Given the description of an element on the screen output the (x, y) to click on. 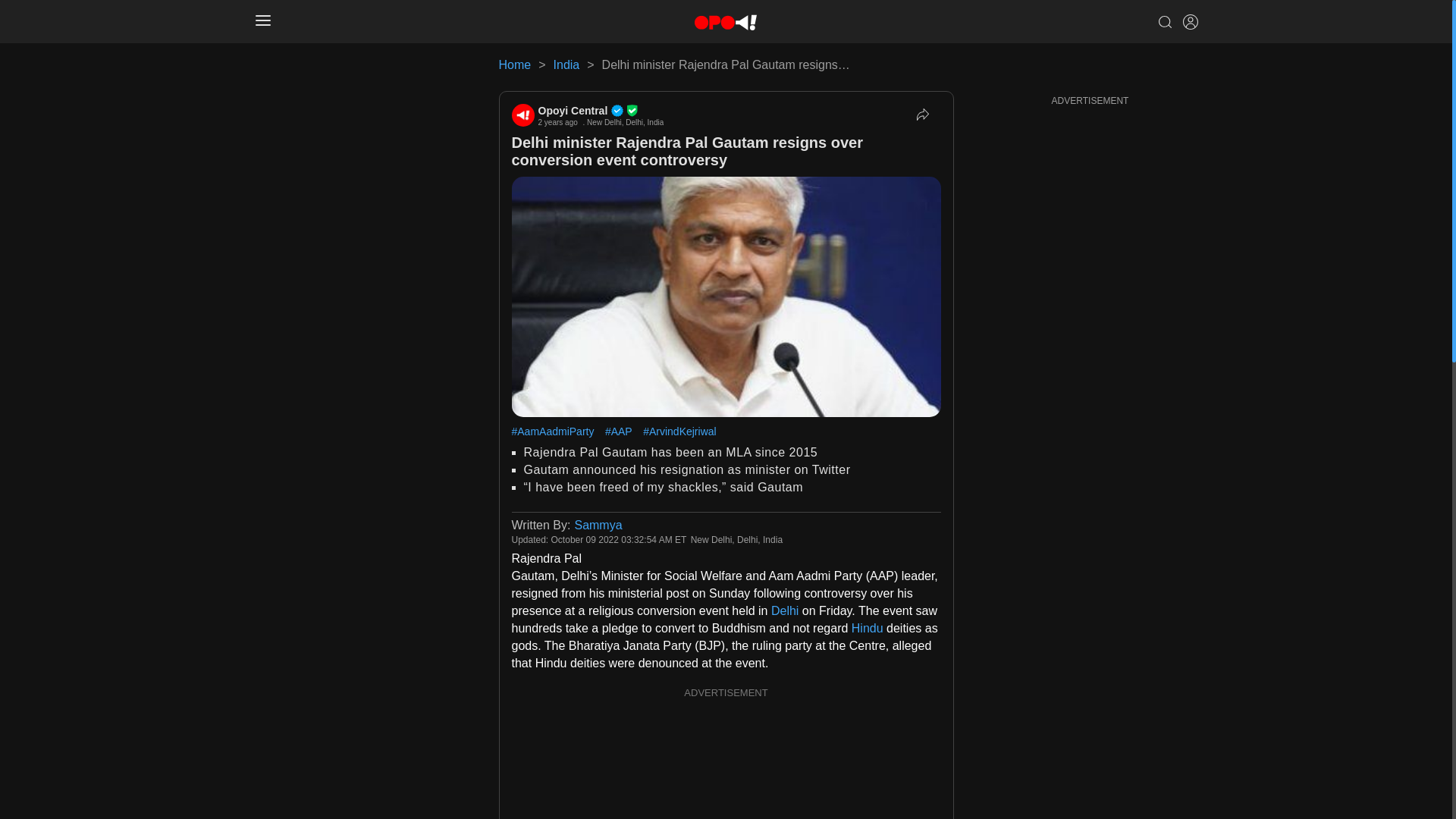
Home (515, 64)
Opoyi Central (600, 110)
Opoyi Central (600, 110)
India (566, 64)
 Opoyi Central (522, 115)
Sammya (597, 524)
